Given the description of an element on the screen output the (x, y) to click on. 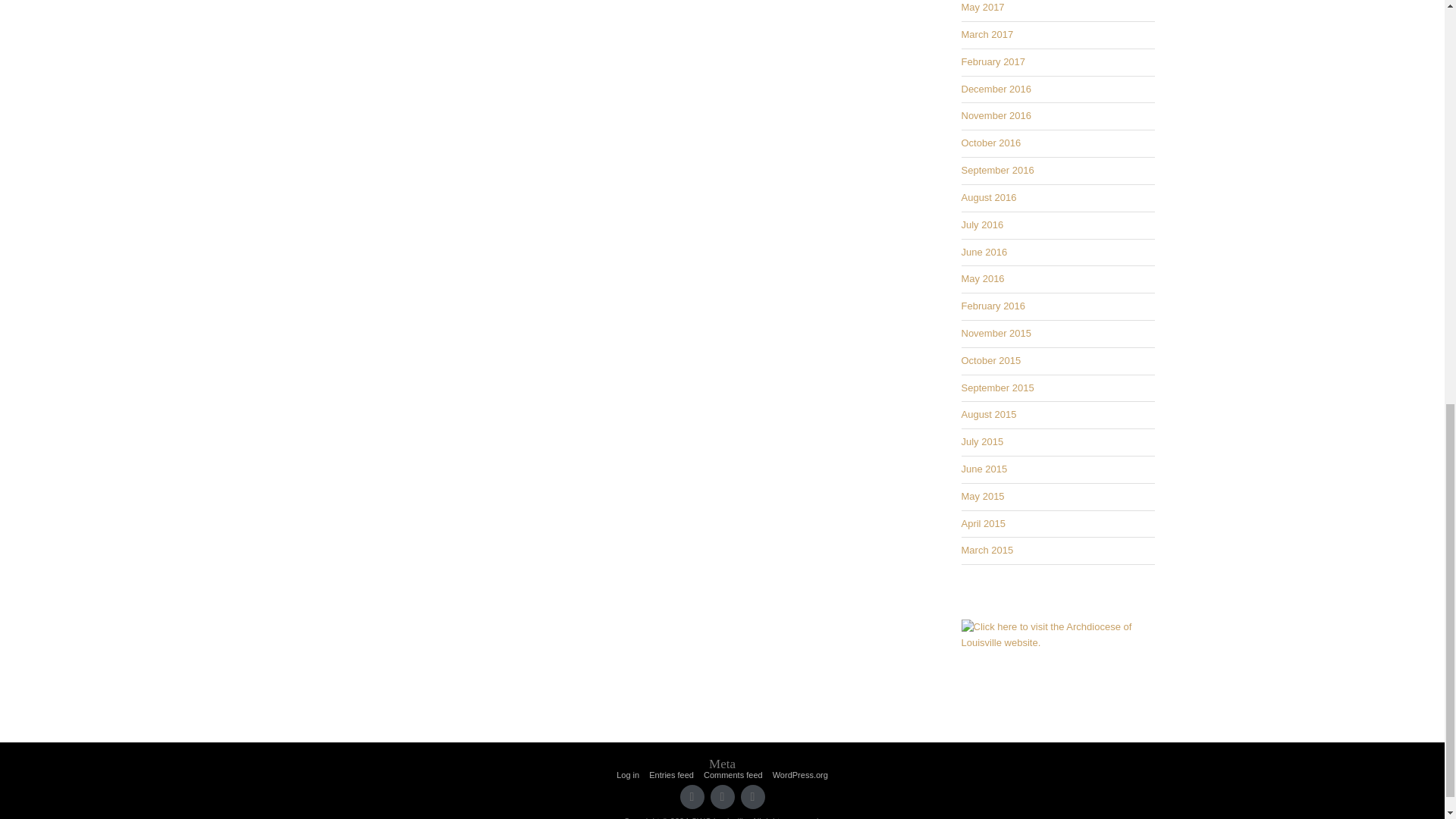
Facebook (721, 796)
Archdiocese of Lousiville (1057, 635)
Instagram (751, 796)
Twitter (691, 796)
